Given the description of an element on the screen output the (x, y) to click on. 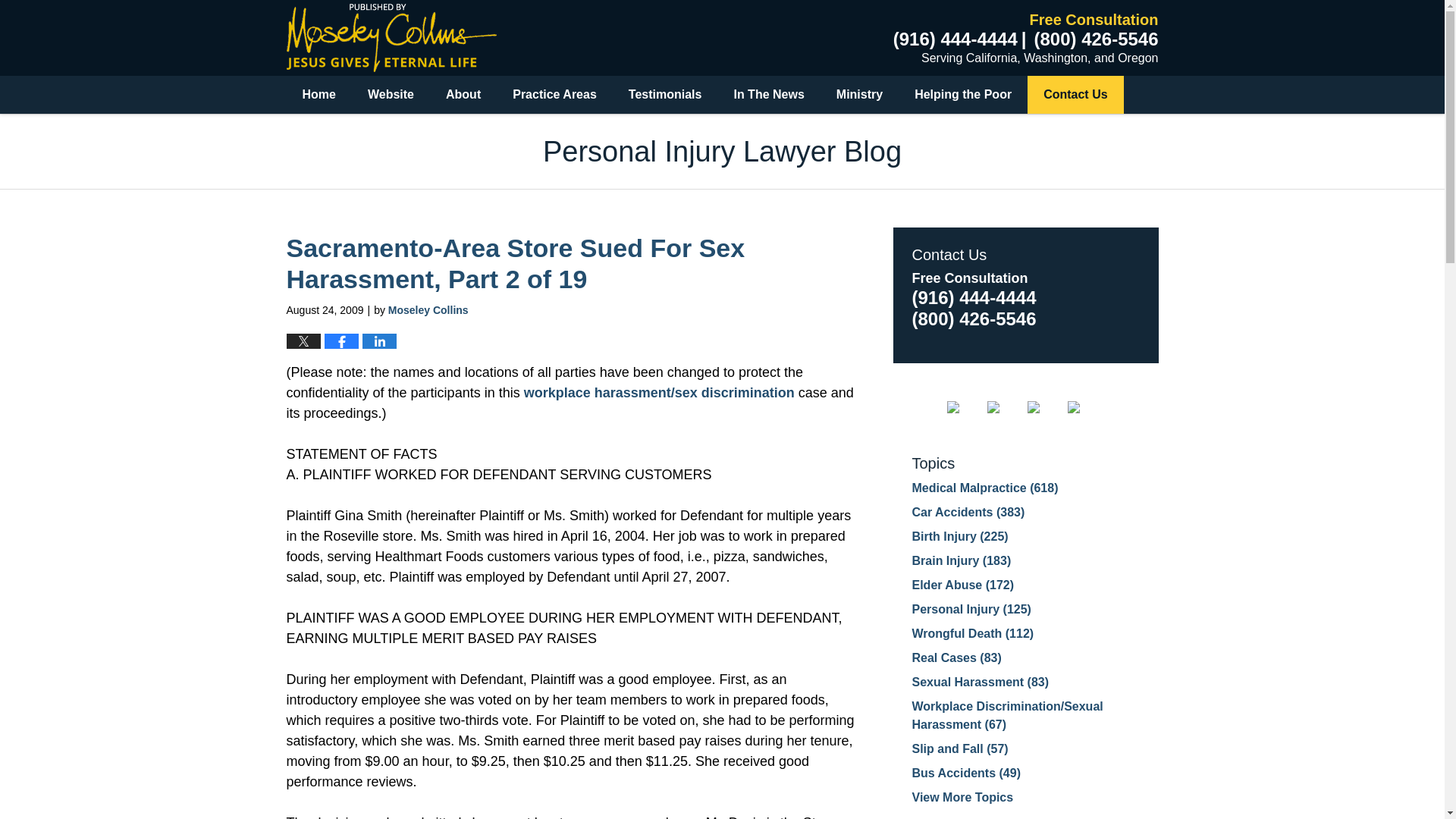
Testimonials (664, 94)
In The News (768, 94)
Contact Us (1074, 94)
About (462, 94)
Twitter (1005, 407)
Facebook (965, 407)
Home (319, 94)
Personal Injury Lawyer Blog (391, 38)
Feed (1085, 407)
Justia (1045, 407)
